Given the description of an element on the screen output the (x, y) to click on. 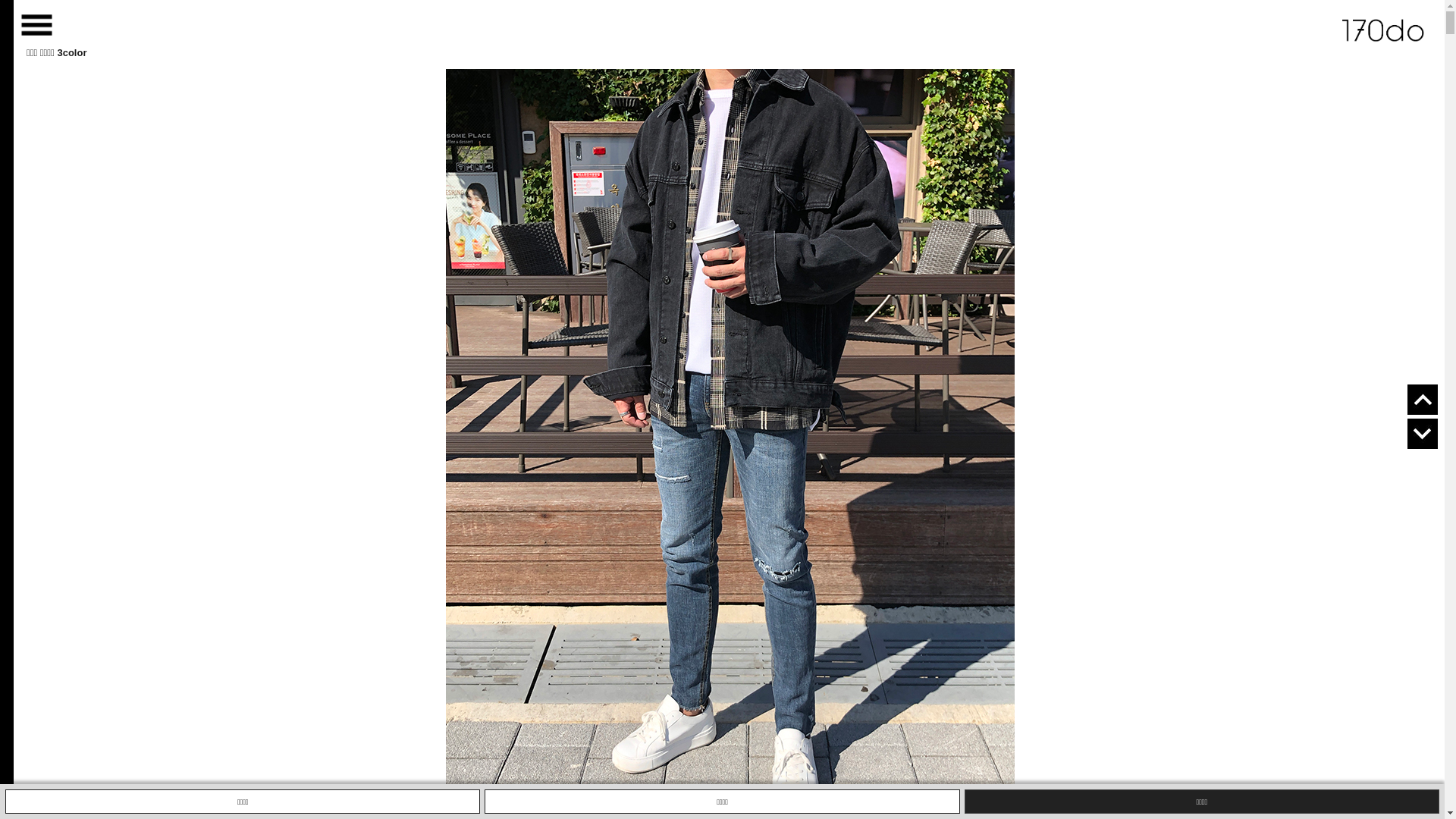
   Element type: text (1384, 24)
  Element type: text (26, 17)
